Given the description of an element on the screen output the (x, y) to click on. 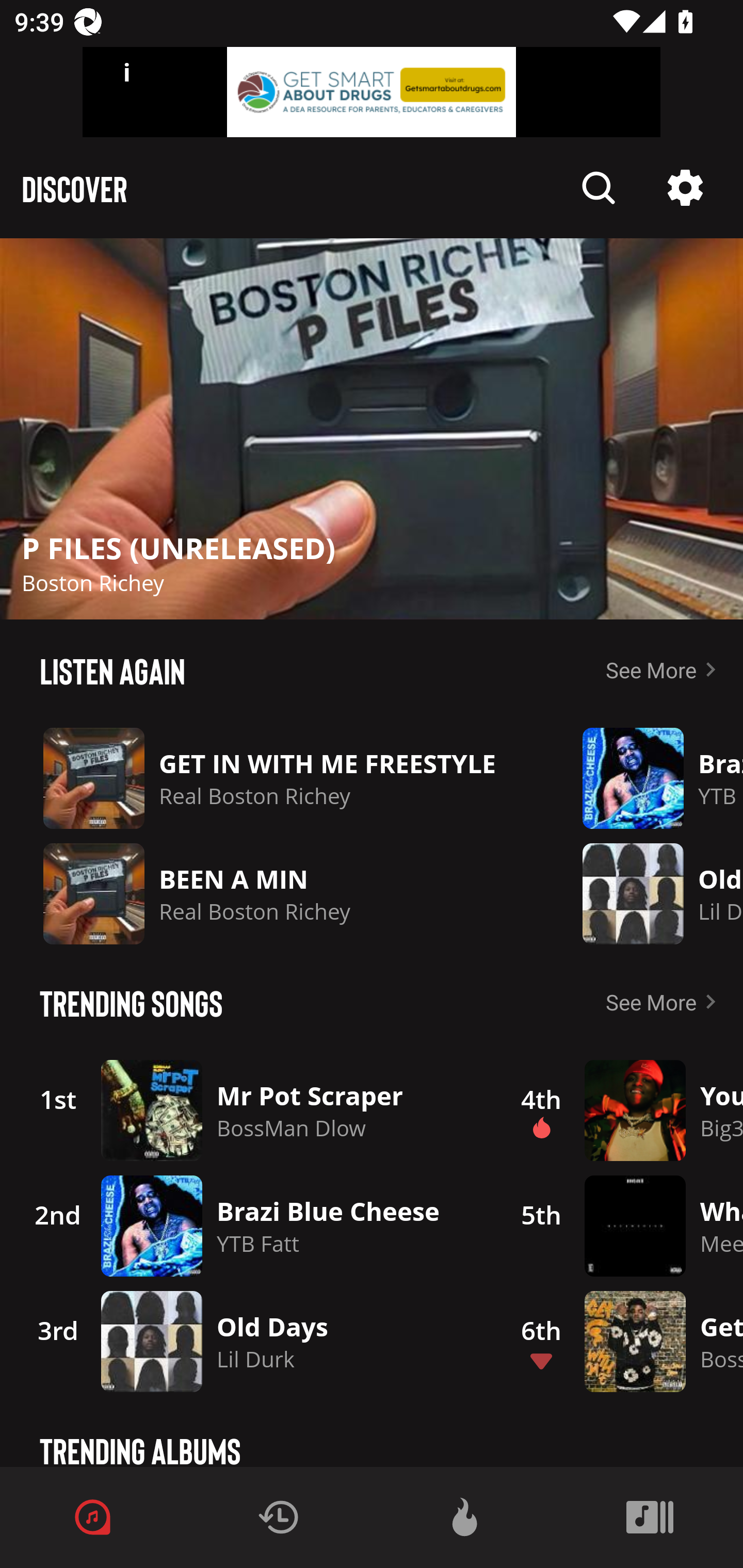
Description (598, 188)
Description (684, 188)
Description (371, 428)
See More (664, 669)
Description Brazi Blue Cheese YTB Fatt (648, 778)
Description BEEN A MIN Real Boston Richey (276, 893)
Description Old Days Lil Durk (648, 893)
See More (664, 1001)
1st Description Mr Pot Scraper BossMan Dlow (248, 1110)
4th Description Description You Thought Big30 (620, 1110)
2nd Description Brazi Blue Cheese YTB Fatt (248, 1226)
3rd Description Old Days Lil Durk (248, 1341)
